Given the description of an element on the screen output the (x, y) to click on. 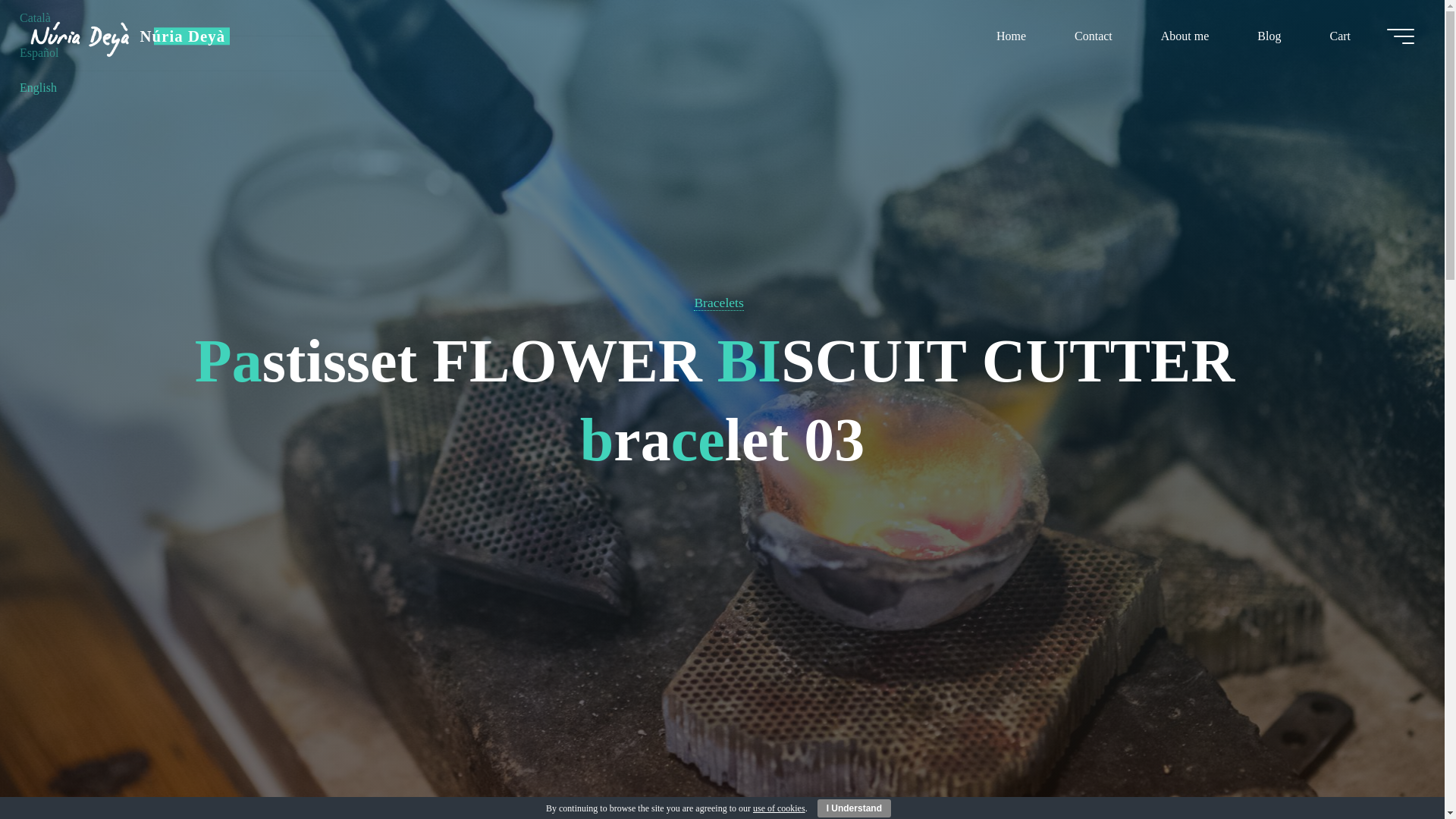
Handmade jewelery (182, 36)
Cart (1339, 35)
English (38, 87)
Contact (1093, 35)
Home (1010, 35)
Bracelets (718, 302)
About me (1185, 35)
Read more (721, 724)
Blog (1268, 35)
